Given the description of an element on the screen output the (x, y) to click on. 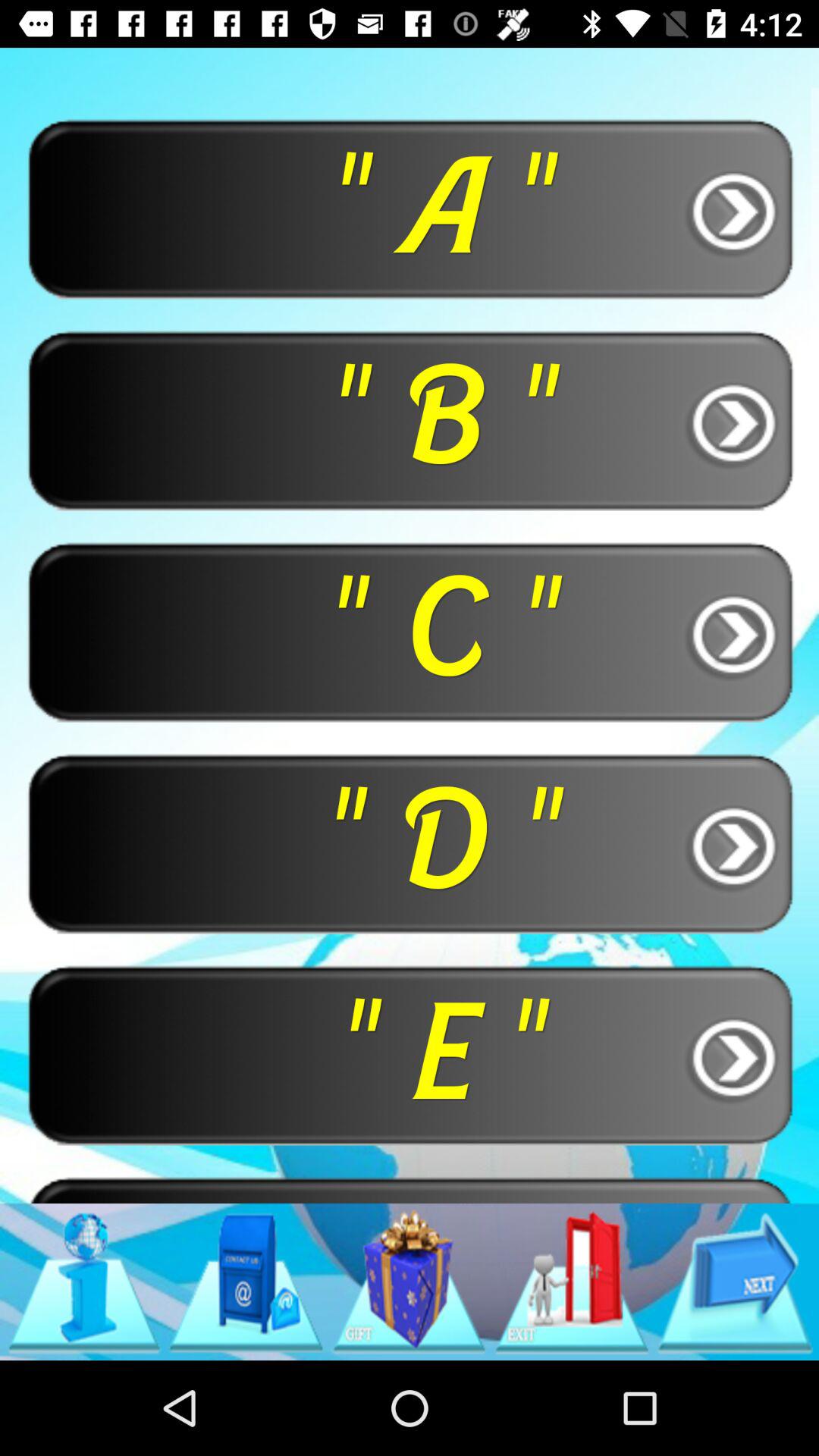
press button above   " e " icon (409, 842)
